Given the description of an element on the screen output the (x, y) to click on. 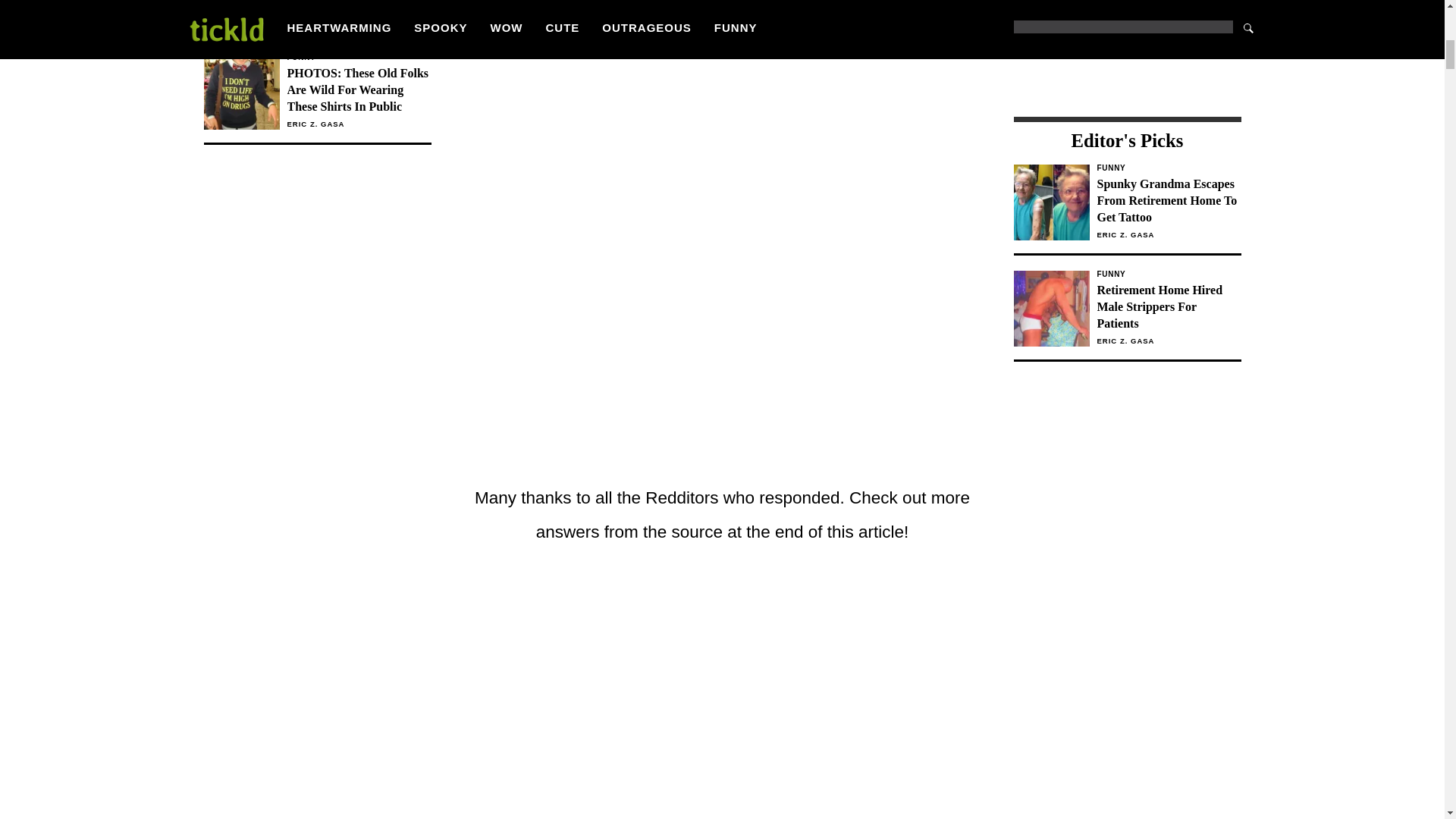
Funny (1168, 274)
Spunky Grandma Escapes From Retirement Home To Get Tattoo (1168, 201)
Funny (1168, 167)
Retirement Home Hired Male Strippers For Patients (1168, 306)
